Given the description of an element on the screen output the (x, y) to click on. 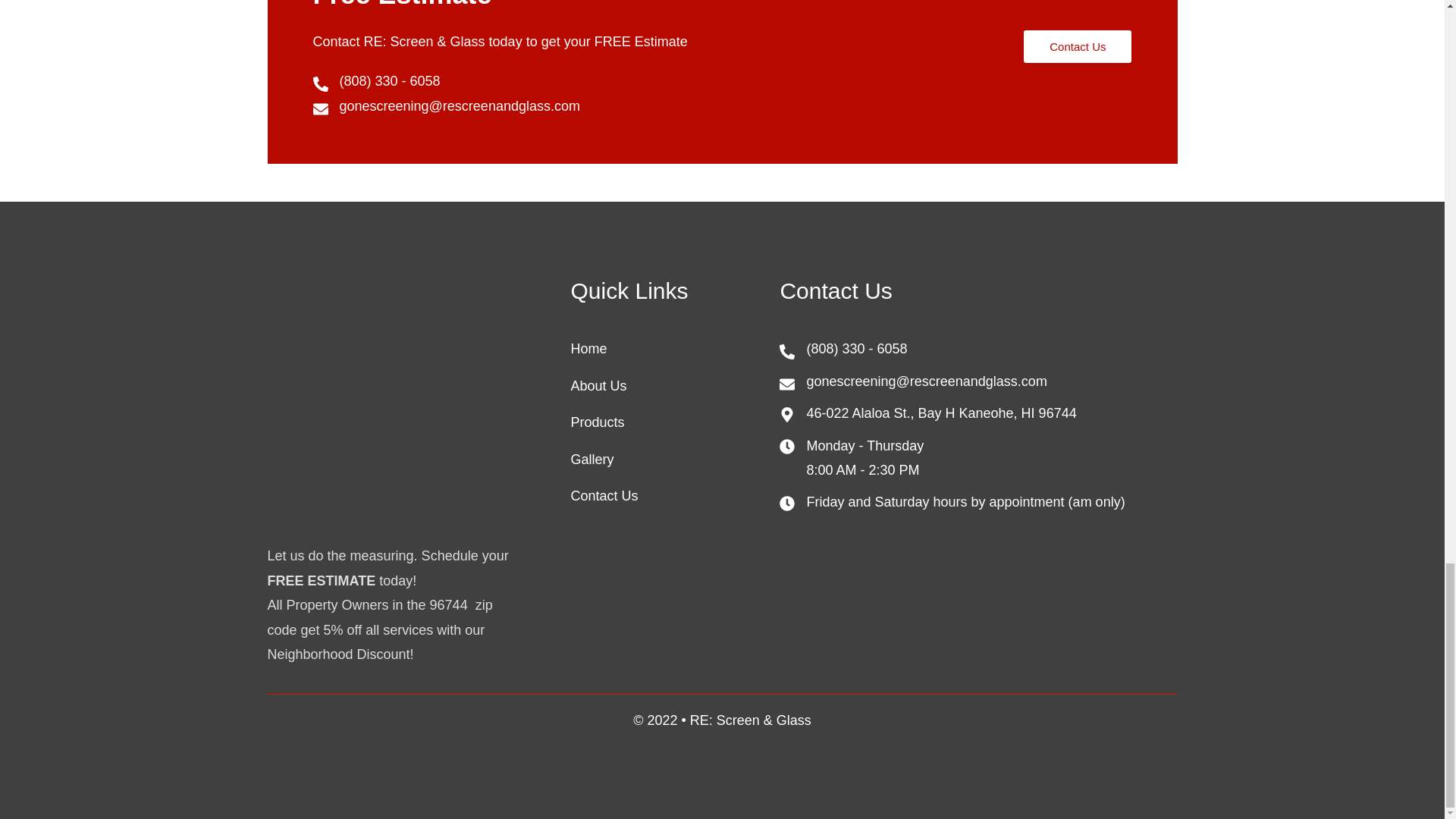
Home (667, 348)
About Us (667, 385)
Contact Us (1077, 46)
Gallery (667, 459)
Contact Us (667, 495)
Products (667, 422)
